Given the description of an element on the screen output the (x, y) to click on. 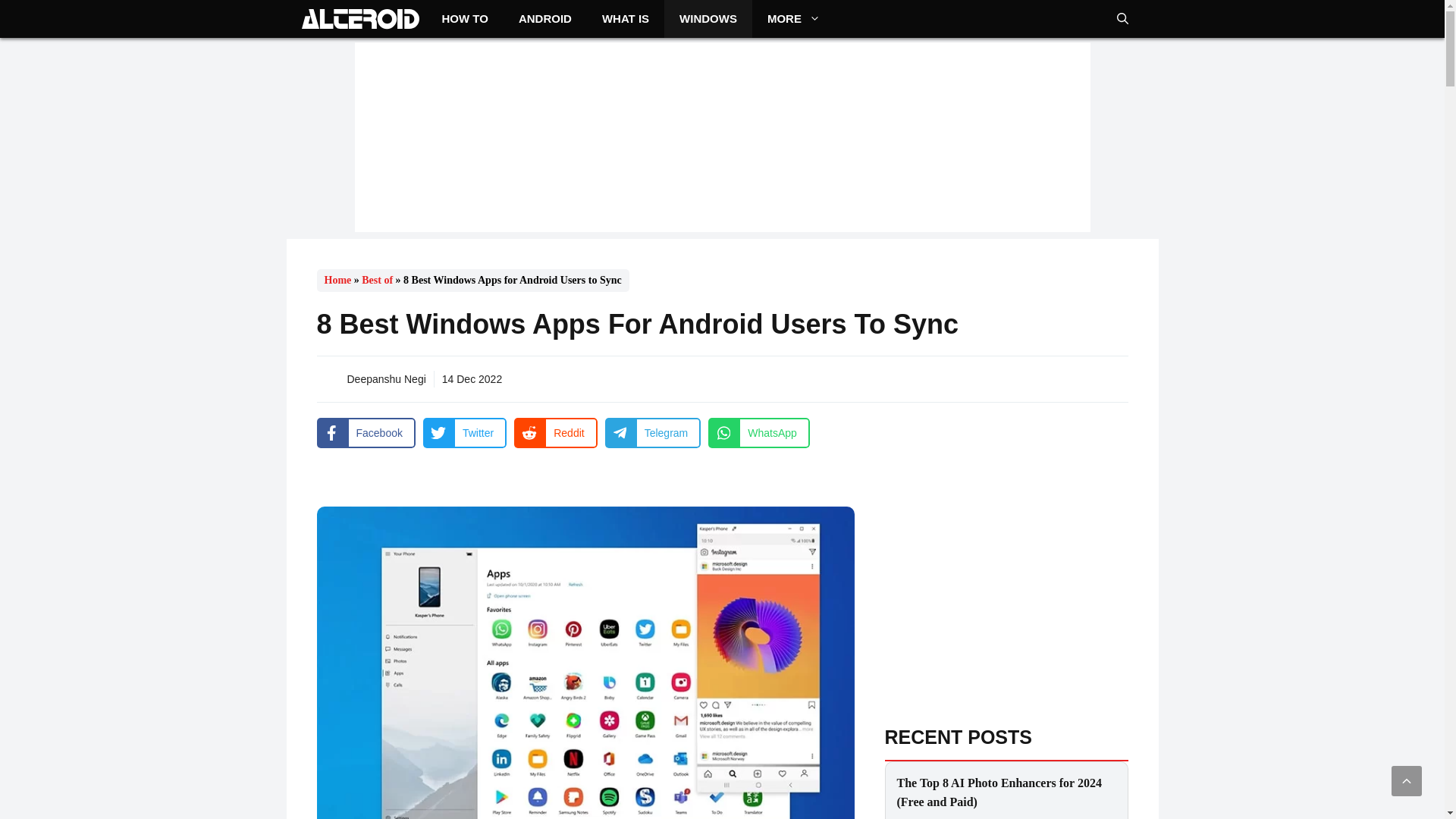
HOW TO (464, 18)
Home (338, 279)
Deepanshu Negi (386, 378)
Facebook (365, 432)
WINDOWS (707, 18)
ANDROID (544, 18)
Alteroid (360, 18)
Scroll back to top (1406, 780)
WhatsApp (758, 432)
WHAT IS (624, 18)
